Given the description of an element on the screen output the (x, y) to click on. 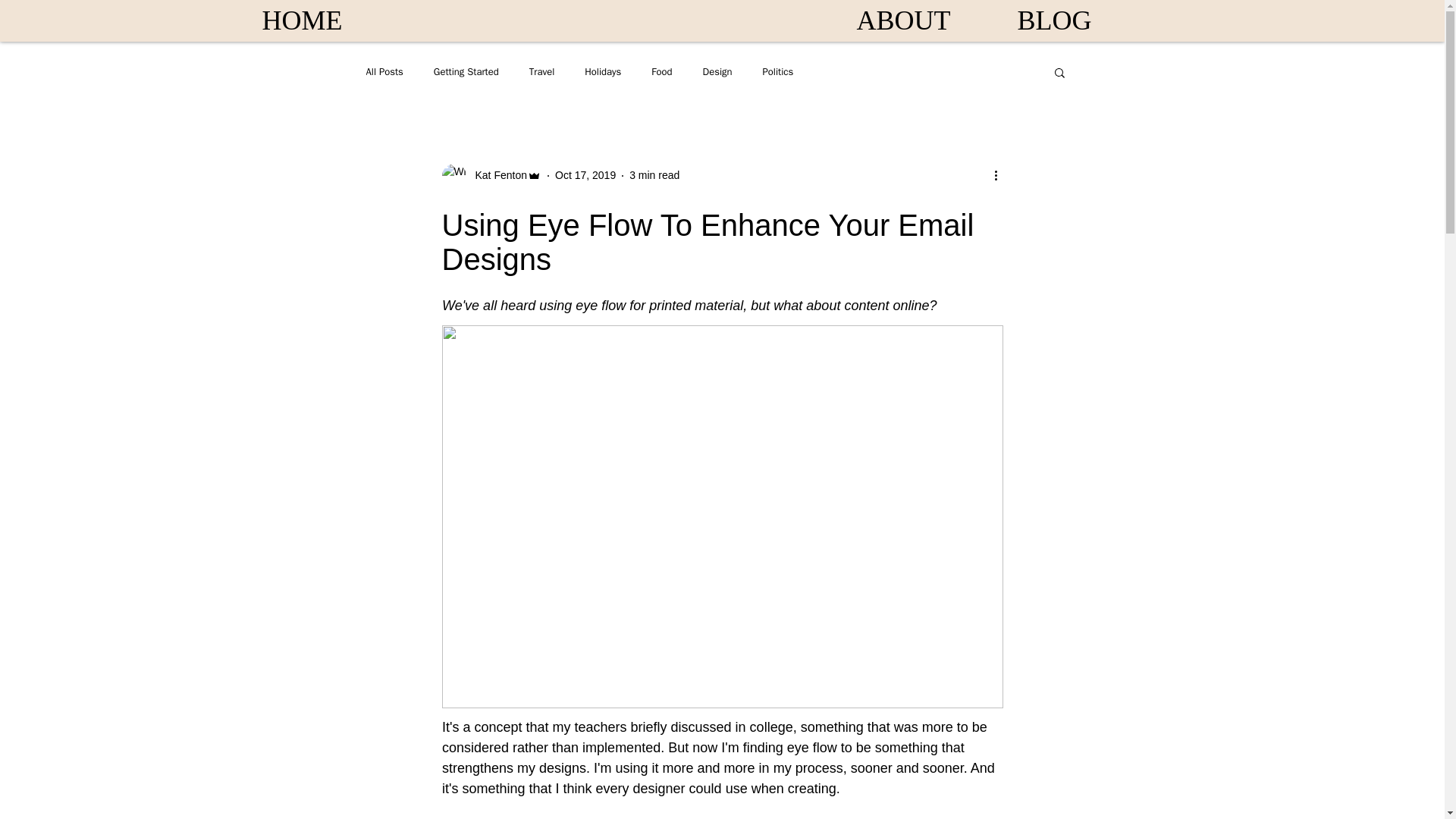
Politics (777, 71)
Holidays (603, 71)
Travel (541, 71)
Oct 17, 2019 (584, 174)
Food (660, 71)
HOME (302, 20)
All Posts (384, 71)
BLOG (1054, 20)
Kat Fenton (496, 175)
3 min read (653, 174)
Design (717, 71)
Getting Started (466, 71)
